Given the description of an element on the screen output the (x, y) to click on. 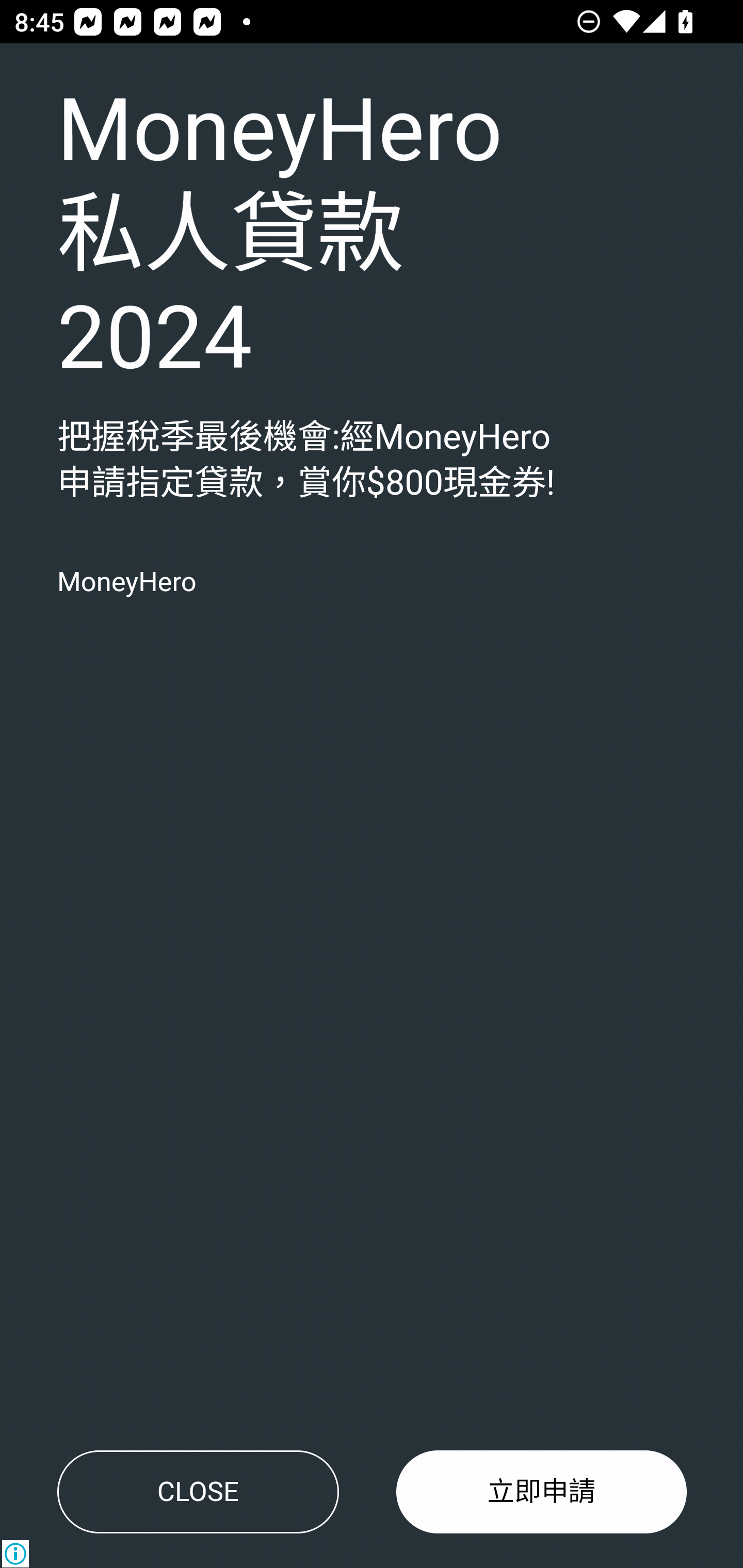
MoneyHero 私人貸款 2024 MoneyHero 私人貸款 2024 (279, 235)
MoneyHero (125, 581)
CLOSE (197, 1491)
立即申請 (541, 1491)
